Given the description of an element on the screen output the (x, y) to click on. 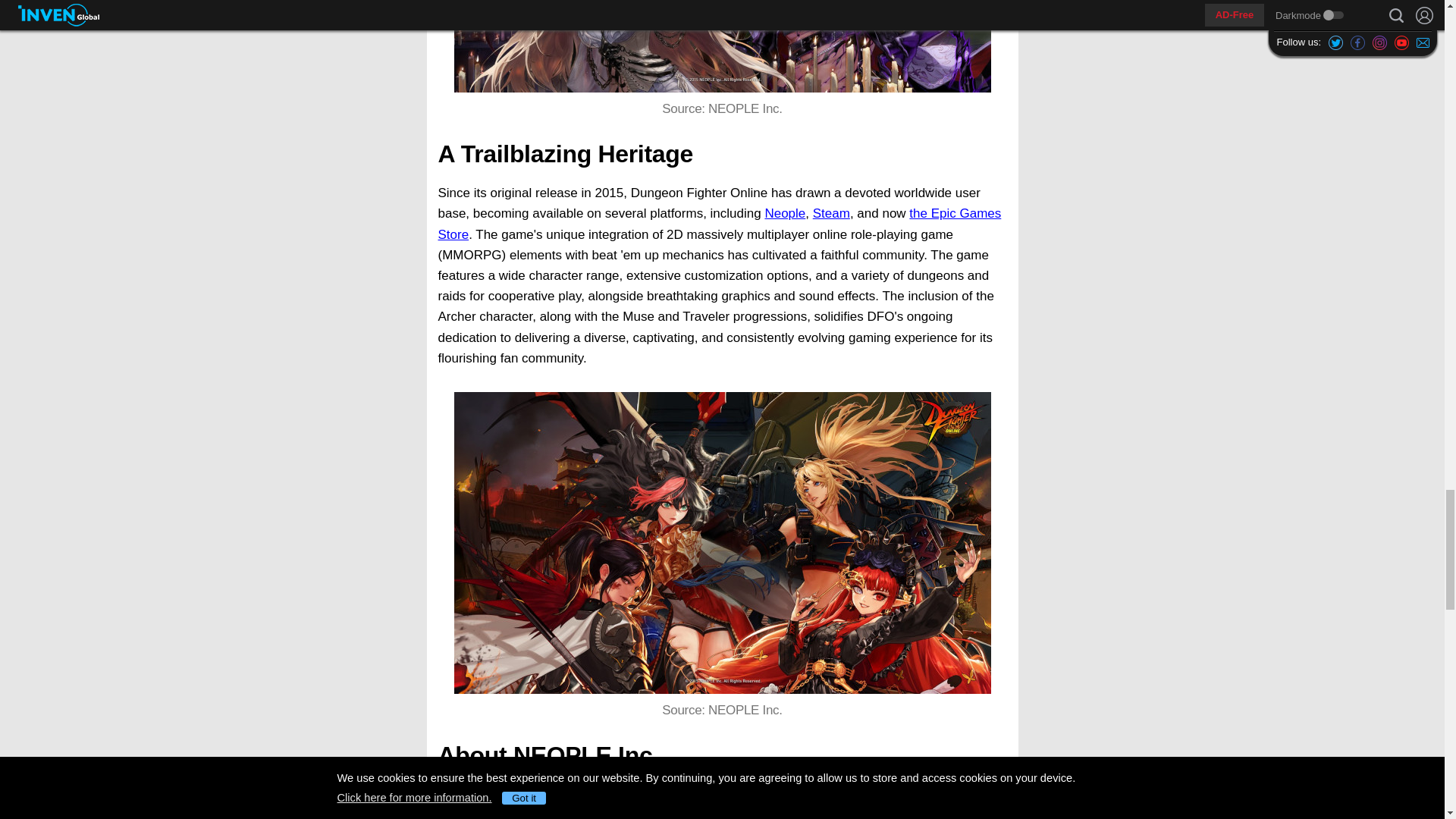
Neople (784, 213)
the Epic Games Store (719, 223)
Steam (831, 213)
